Given the description of an element on the screen output the (x, y) to click on. 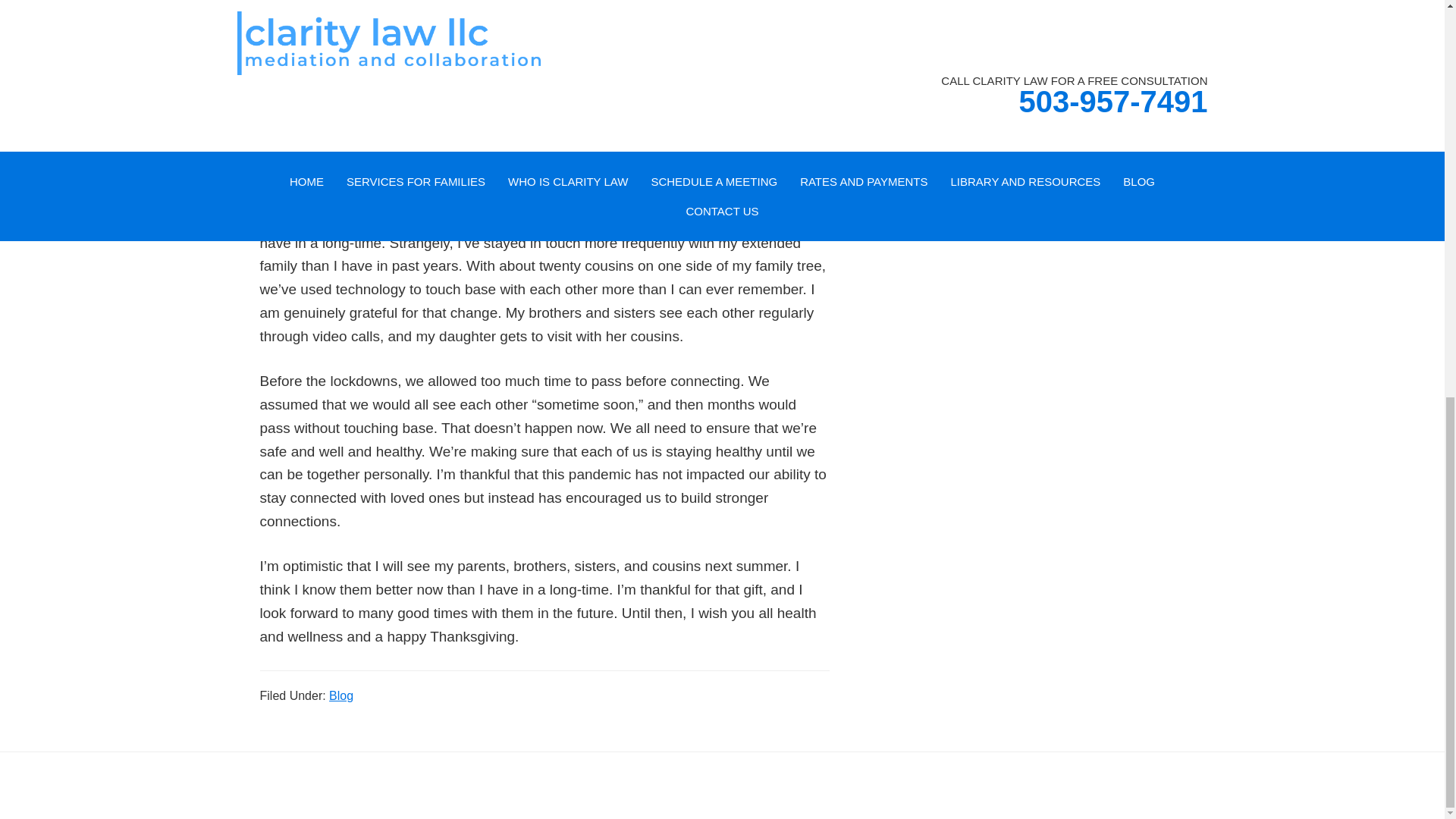
Log in (965, 785)
Blog (341, 695)
The Crouch Group (882, 785)
